Given the description of an element on the screen output the (x, y) to click on. 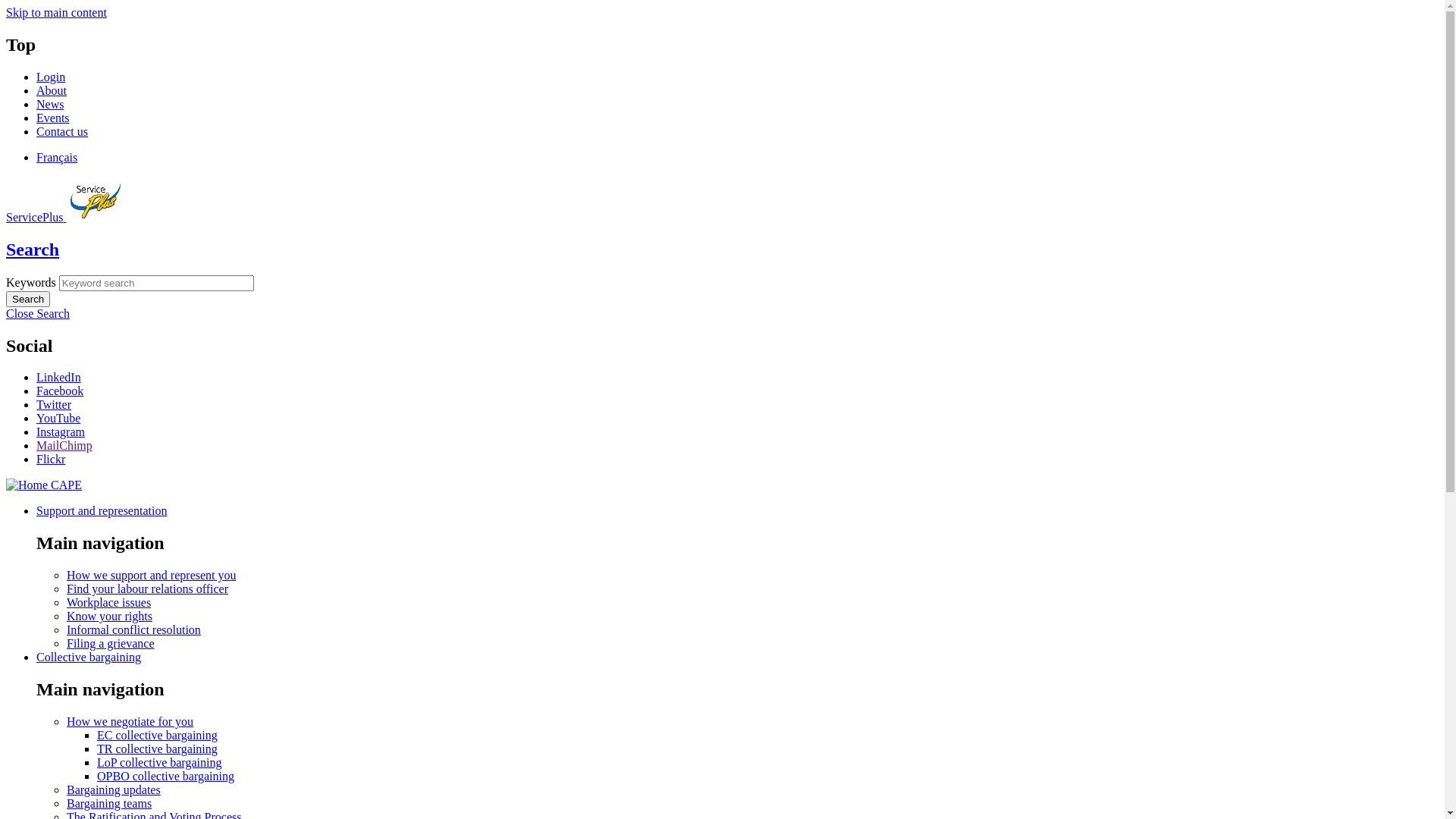
YouTube Element type: text (58, 417)
Workplace issues Element type: text (108, 602)
About Element type: text (51, 90)
News Element type: text (49, 103)
Search Element type: text (32, 249)
Filing a grievance Element type: text (110, 643)
LinkedIn Element type: text (58, 376)
CAPE Element type: text (43, 484)
Skip to main content Element type: text (56, 12)
Flickr Element type: text (50, 458)
Twitter Element type: text (53, 404)
TR collective bargaining Element type: text (157, 748)
Bargaining teams Element type: text (108, 803)
Know your rights Element type: text (109, 615)
Collective bargaining Element type: text (88, 656)
MailChimp Element type: text (64, 445)
Instagram Element type: text (60, 431)
Facebook Element type: text (59, 390)
OPBO collective bargaining Element type: text (165, 775)
How we support and represent you Element type: text (151, 574)
Close Search Element type: text (37, 313)
Informal conflict resolution Element type: text (133, 629)
Bargaining updates Element type: text (113, 789)
Search Element type: text (28, 299)
How we negotiate for you Element type: text (129, 721)
Find your labour relations officer Element type: text (147, 588)
Support and representation Element type: text (101, 510)
Events Element type: text (52, 117)
EC collective bargaining Element type: text (157, 734)
ServicePlus Element type: text (65, 216)
LoP collective bargaining Element type: text (159, 762)
Login Element type: text (50, 76)
Contact us Element type: text (61, 131)
